Given the description of an element on the screen output the (x, y) to click on. 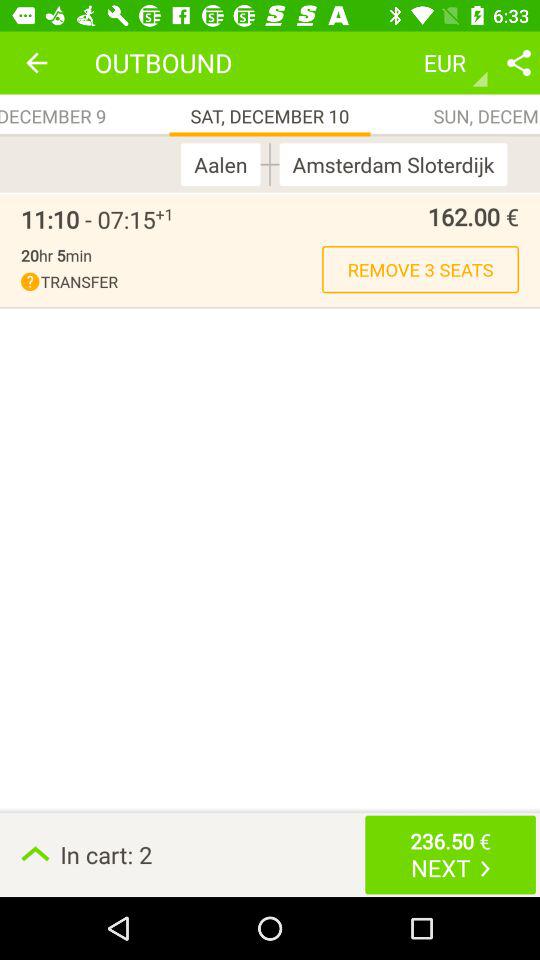
choose icon above in cart: 2 item (420, 269)
